Given the description of an element on the screen output the (x, y) to click on. 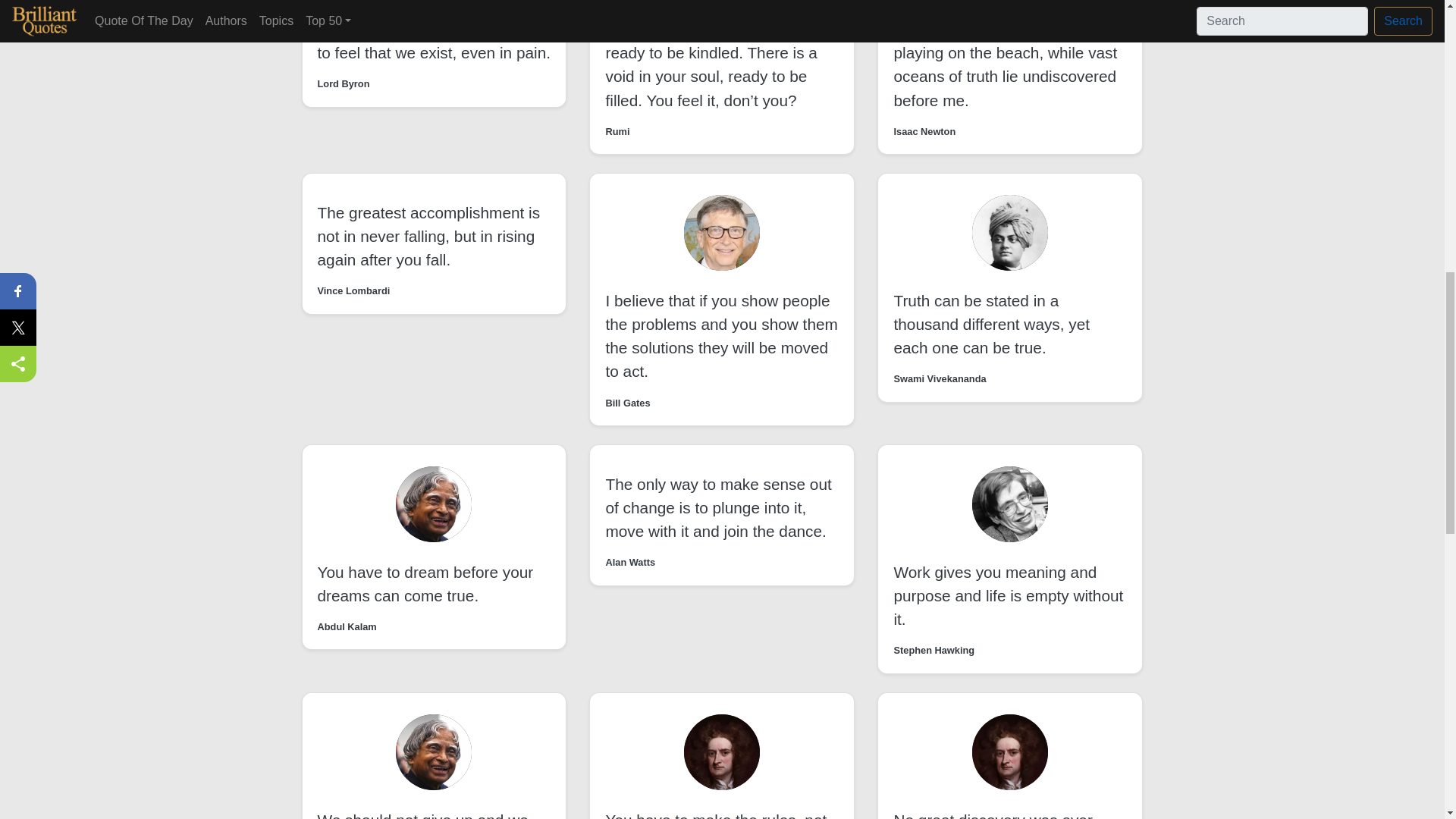
Vince Lombardi (353, 290)
Lord Byron (343, 83)
Isaac Newton (924, 131)
Rumi (616, 131)
Swami Vivekananda (939, 378)
Bill Gates (627, 402)
You have to dream before your dreams can come true. (424, 583)
Abdul Kalam (346, 626)
